Given the description of an element on the screen output the (x, y) to click on. 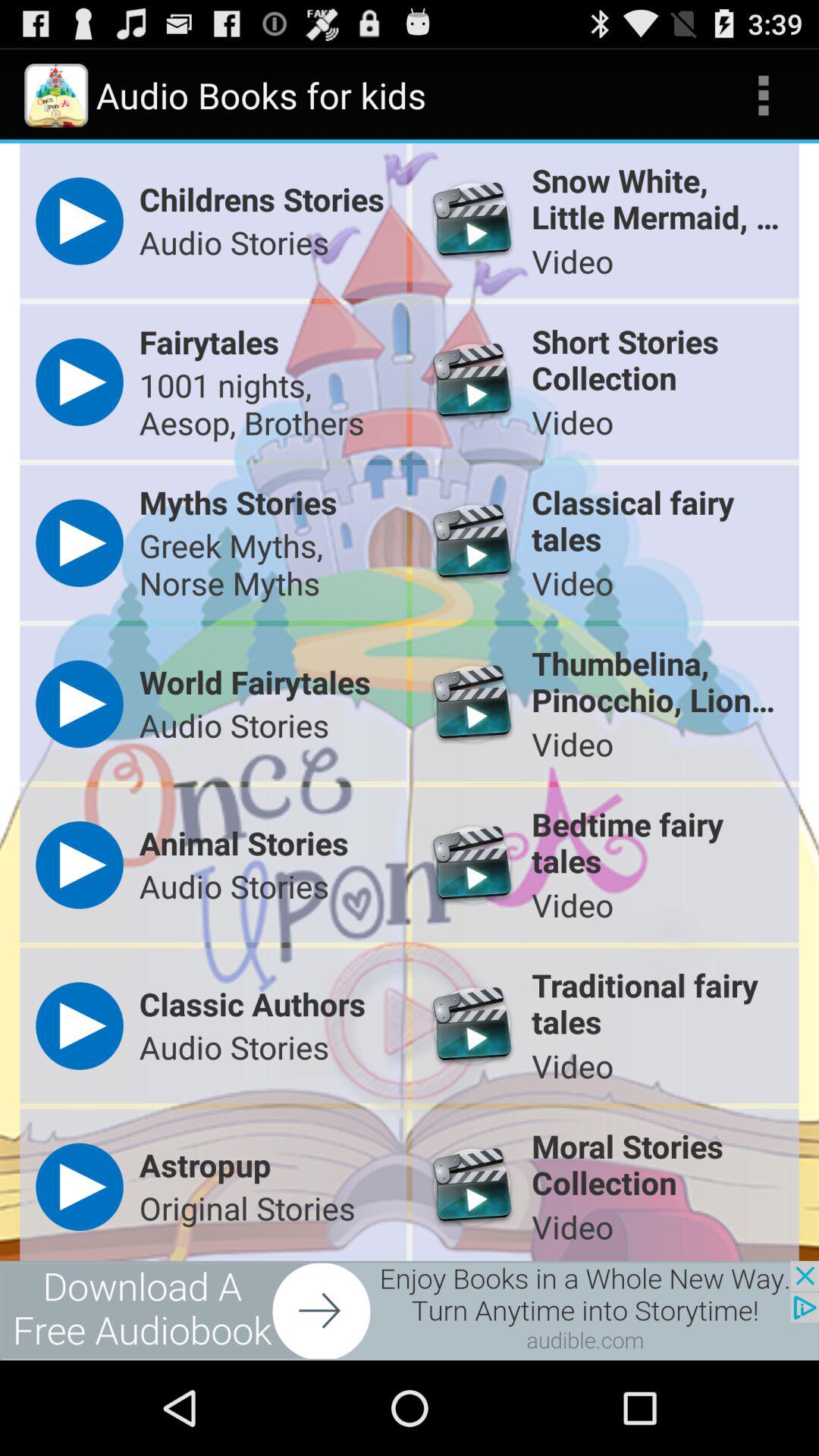
advertisement banner (409, 1310)
